Given the description of an element on the screen output the (x, y) to click on. 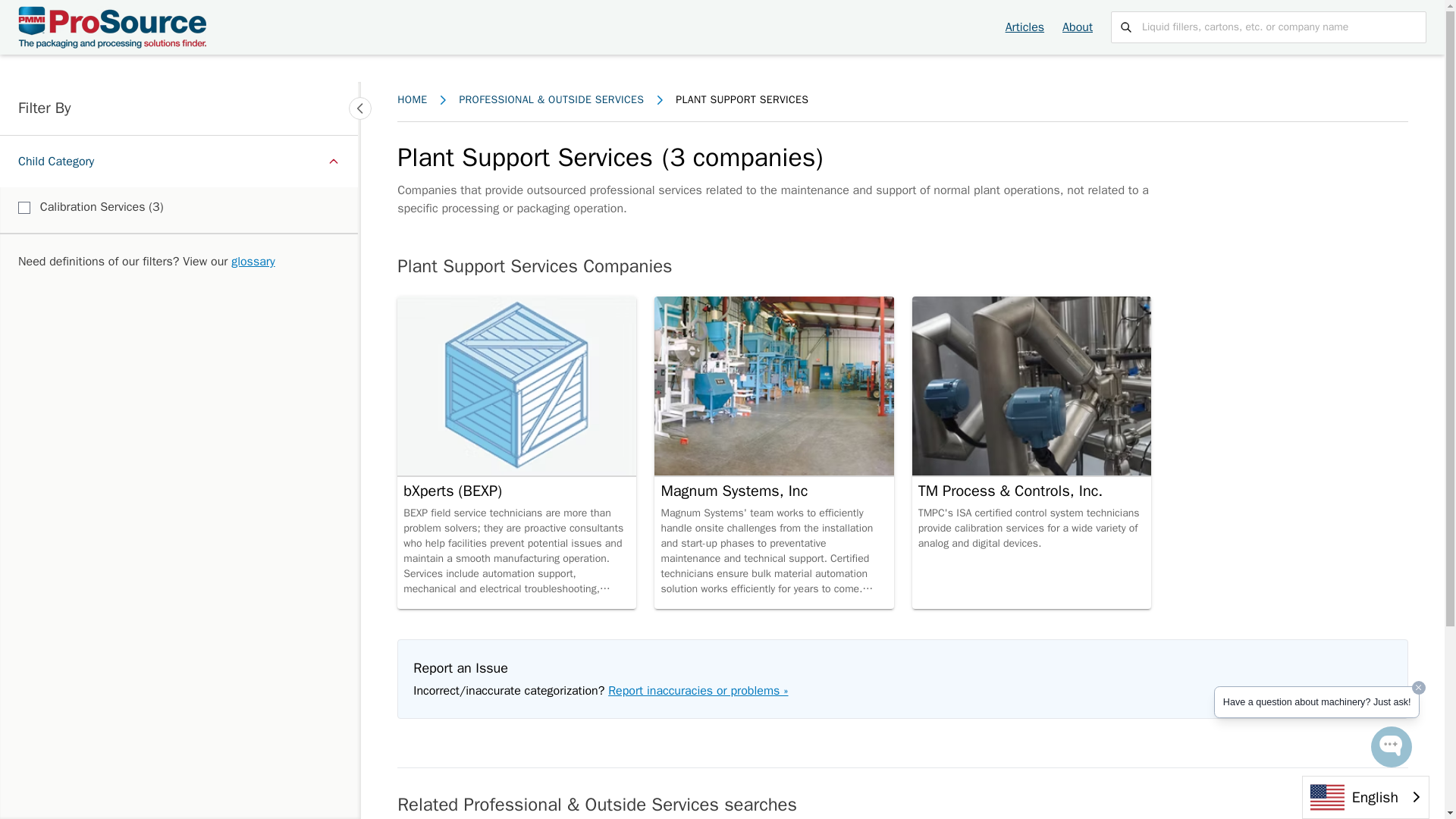
English (1365, 797)
Articles (1024, 27)
a1b8W000003eivTQAQ (179, 161)
HOME (23, 207)
About (411, 99)
glossary (1077, 27)
Hide Child Category filter (253, 261)
